Given the description of an element on the screen output the (x, y) to click on. 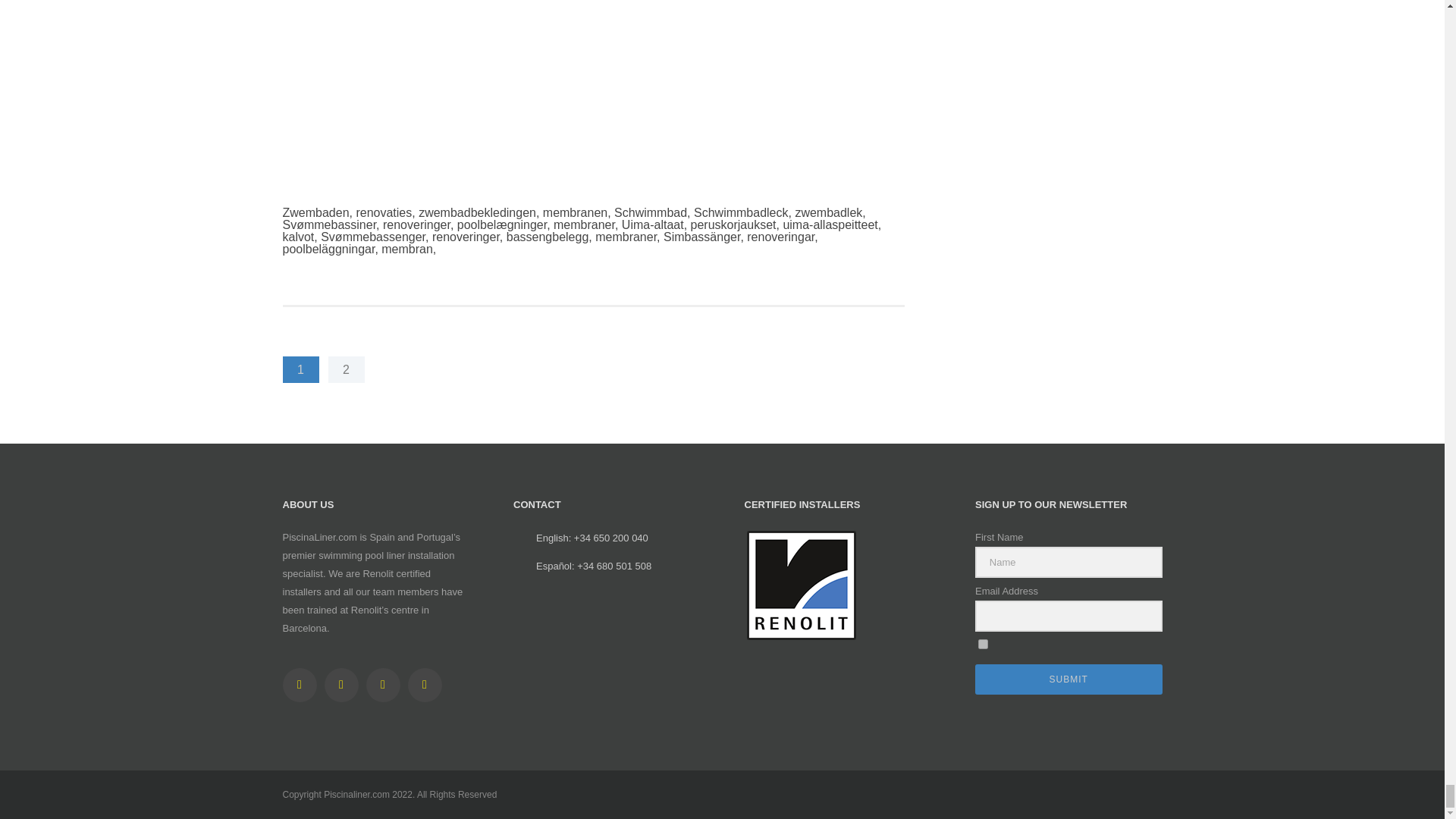
1 (983, 644)
